Given the description of an element on the screen output the (x, y) to click on. 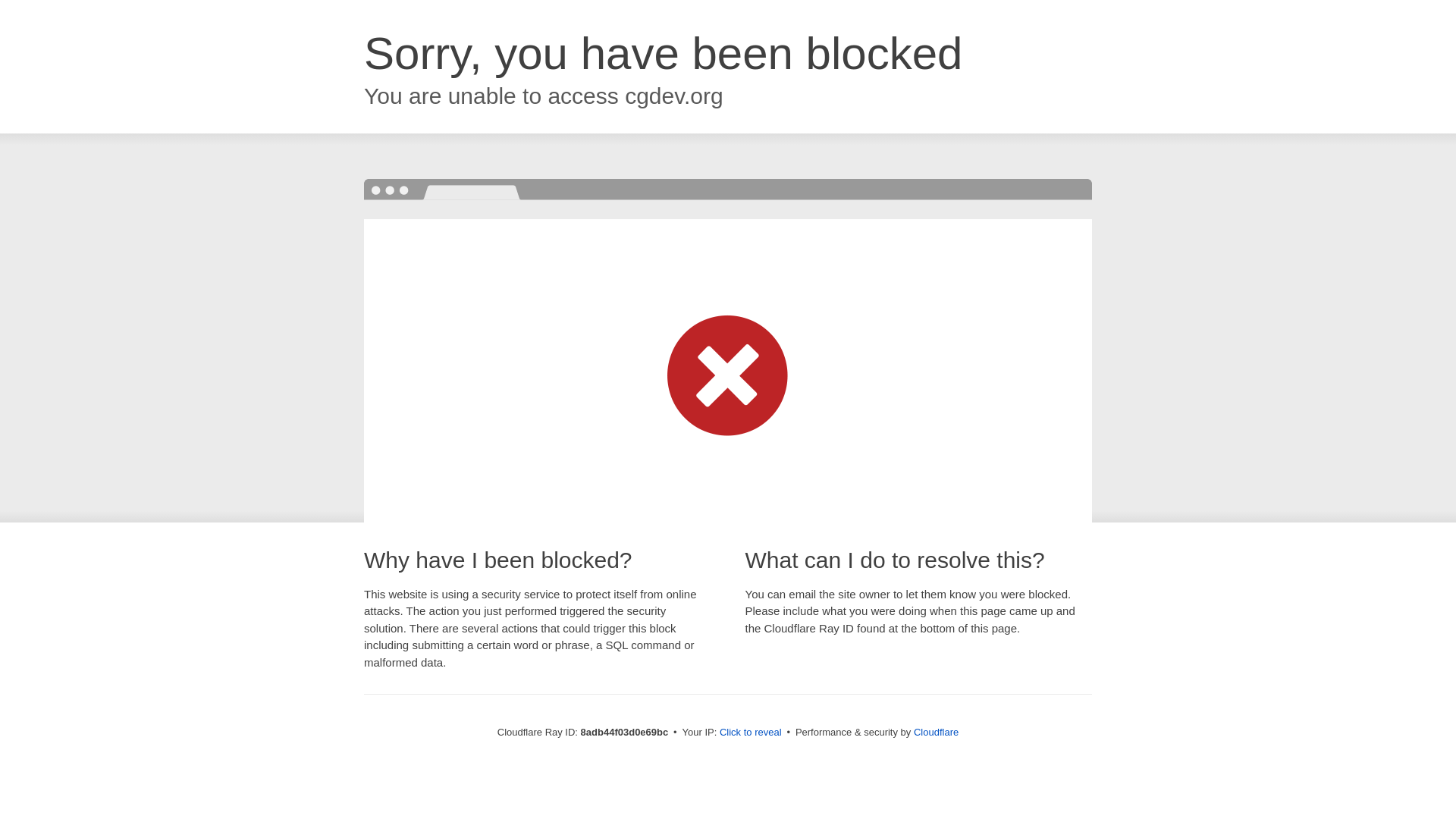
Cloudflare (936, 731)
Click to reveal (750, 732)
